Given the description of an element on the screen output the (x, y) to click on. 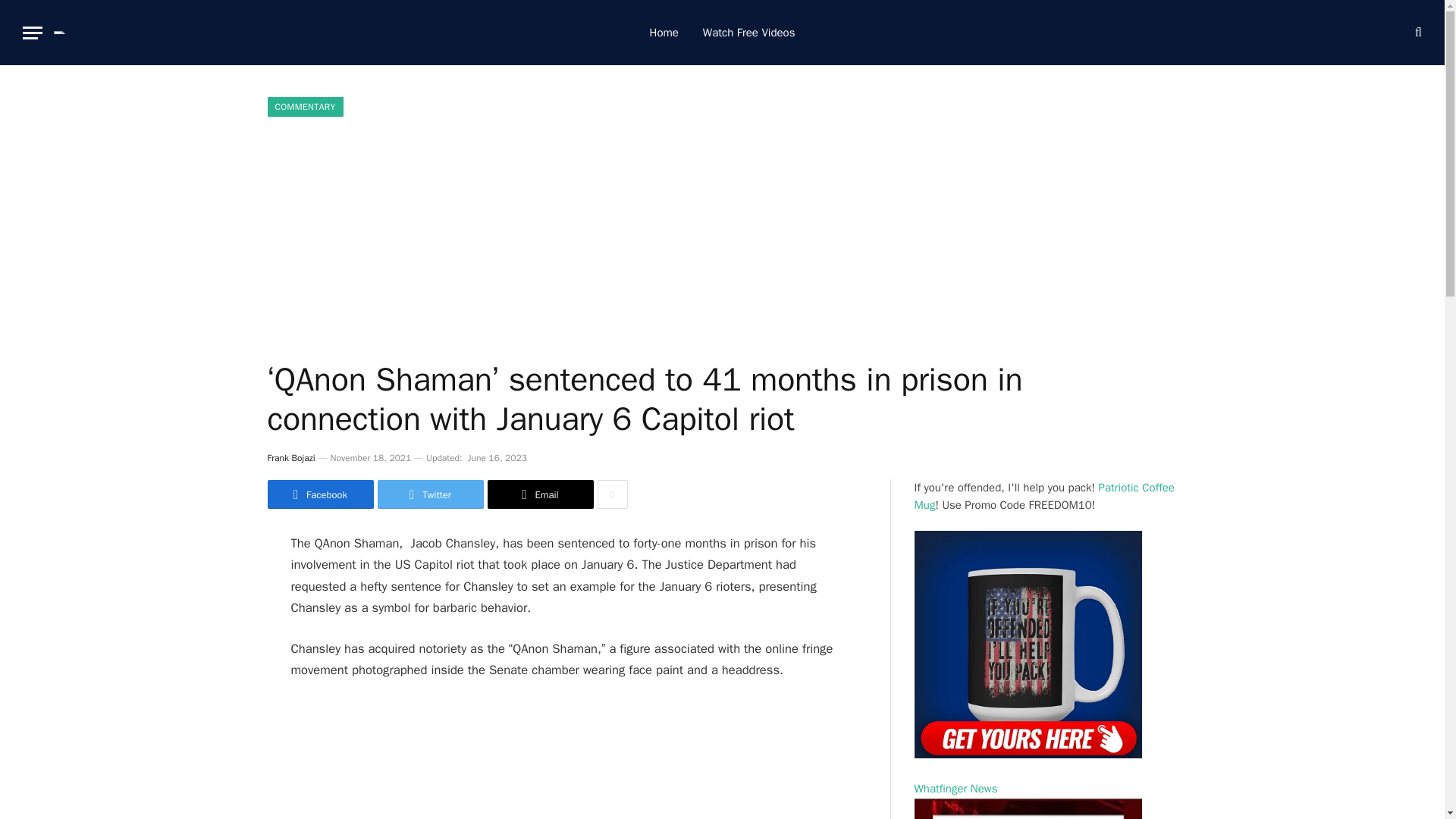
Posts by Frank Bojazi (290, 458)
Watch Free Videos (749, 32)
Show More Social Sharing (611, 493)
Facebook (319, 493)
Share via Email (539, 493)
Twitter (430, 493)
Email (539, 493)
Patriotic Coffee Mug (1044, 495)
COMMENTARY (304, 107)
Share on Facebook (319, 493)
Frank Bojazi (290, 458)
My Daily Freedom (68, 32)
Whatfinger News (1027, 800)
